Given the description of an element on the screen output the (x, y) to click on. 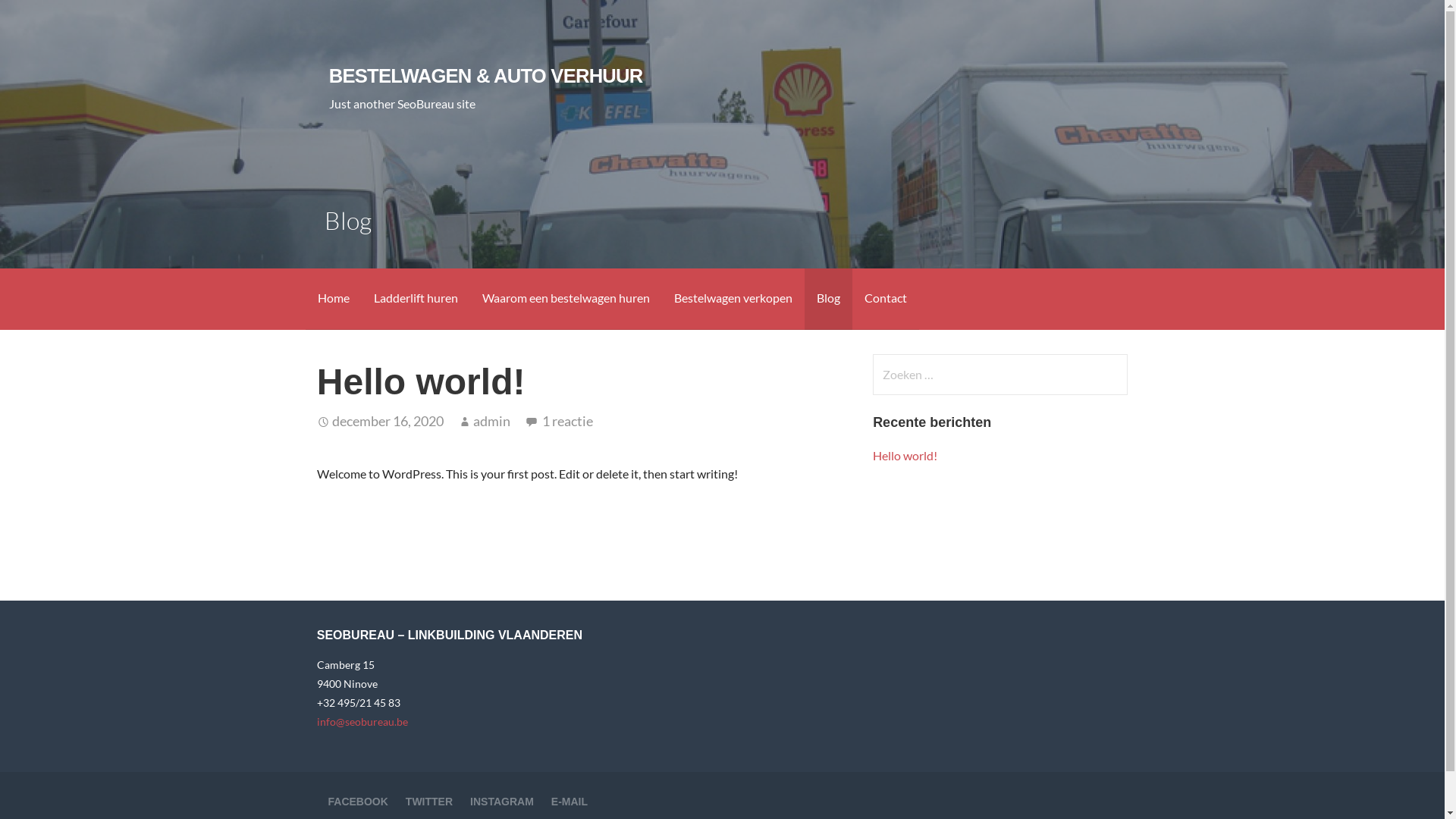
admin Element type: text (491, 420)
Ladderlift huren Element type: text (414, 298)
E-MAIL Element type: text (569, 801)
Blog Element type: text (827, 298)
1 reactie Element type: text (567, 420)
Zoeken Element type: text (42, 18)
Waarom een bestelwagen huren Element type: text (566, 298)
Home Element type: text (332, 298)
FACEBOOK Element type: text (357, 801)
Bestelwagen verkopen Element type: text (732, 298)
INSTAGRAM Element type: text (501, 801)
Contact Element type: text (885, 298)
info@seobureau.be Element type: text (361, 721)
TWITTER Element type: text (428, 801)
BESTELWAGEN & AUTO VERHUUR Element type: text (486, 75)
Hello world! Element type: text (904, 455)
